Given the description of an element on the screen output the (x, y) to click on. 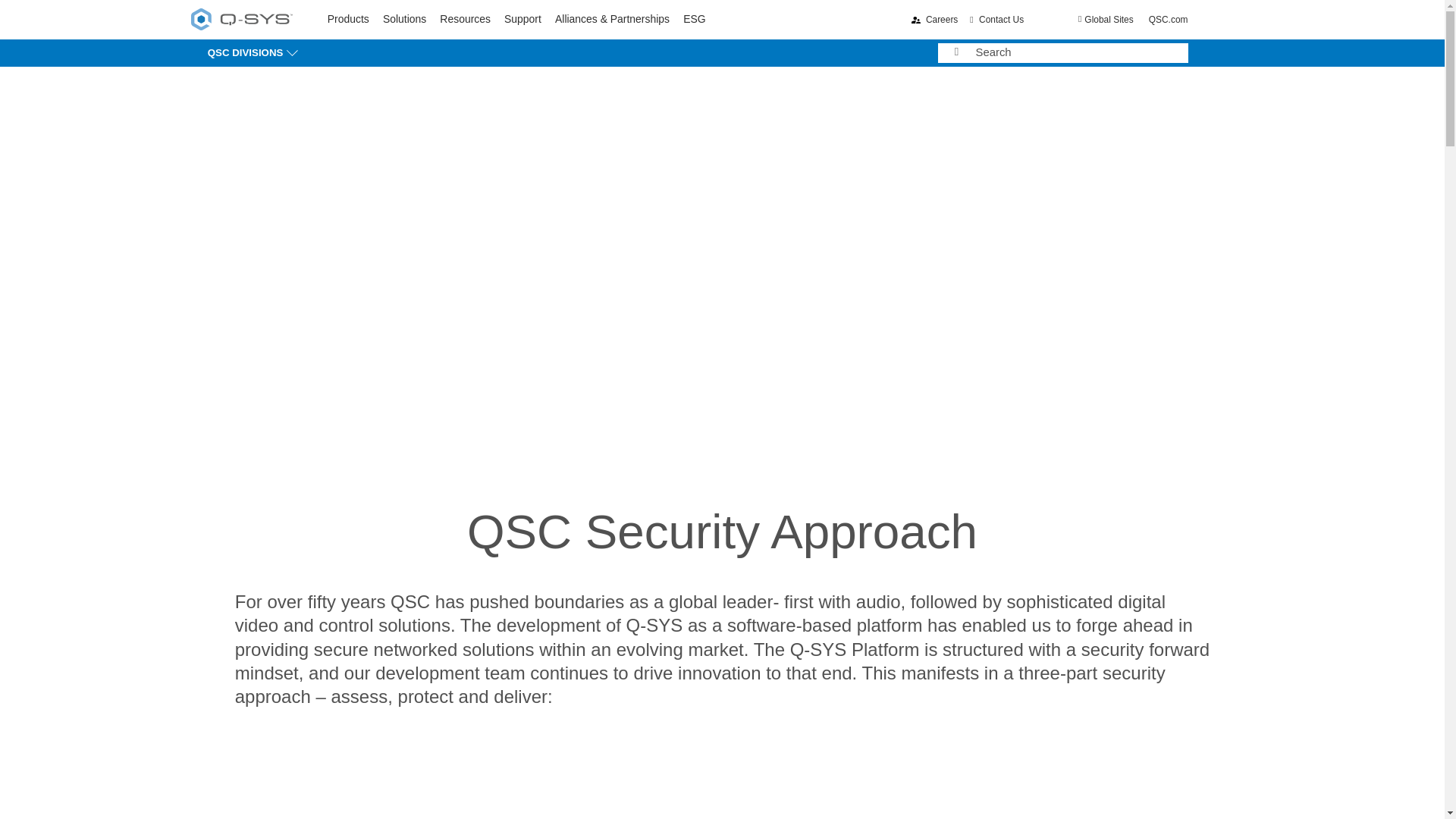
Resources (464, 19)
Contact Us (996, 19)
Support (522, 19)
Q-SYS logo (241, 19)
Solutions (404, 19)
ESG (693, 19)
Products (348, 19)
